Given the description of an element on the screen output the (x, y) to click on. 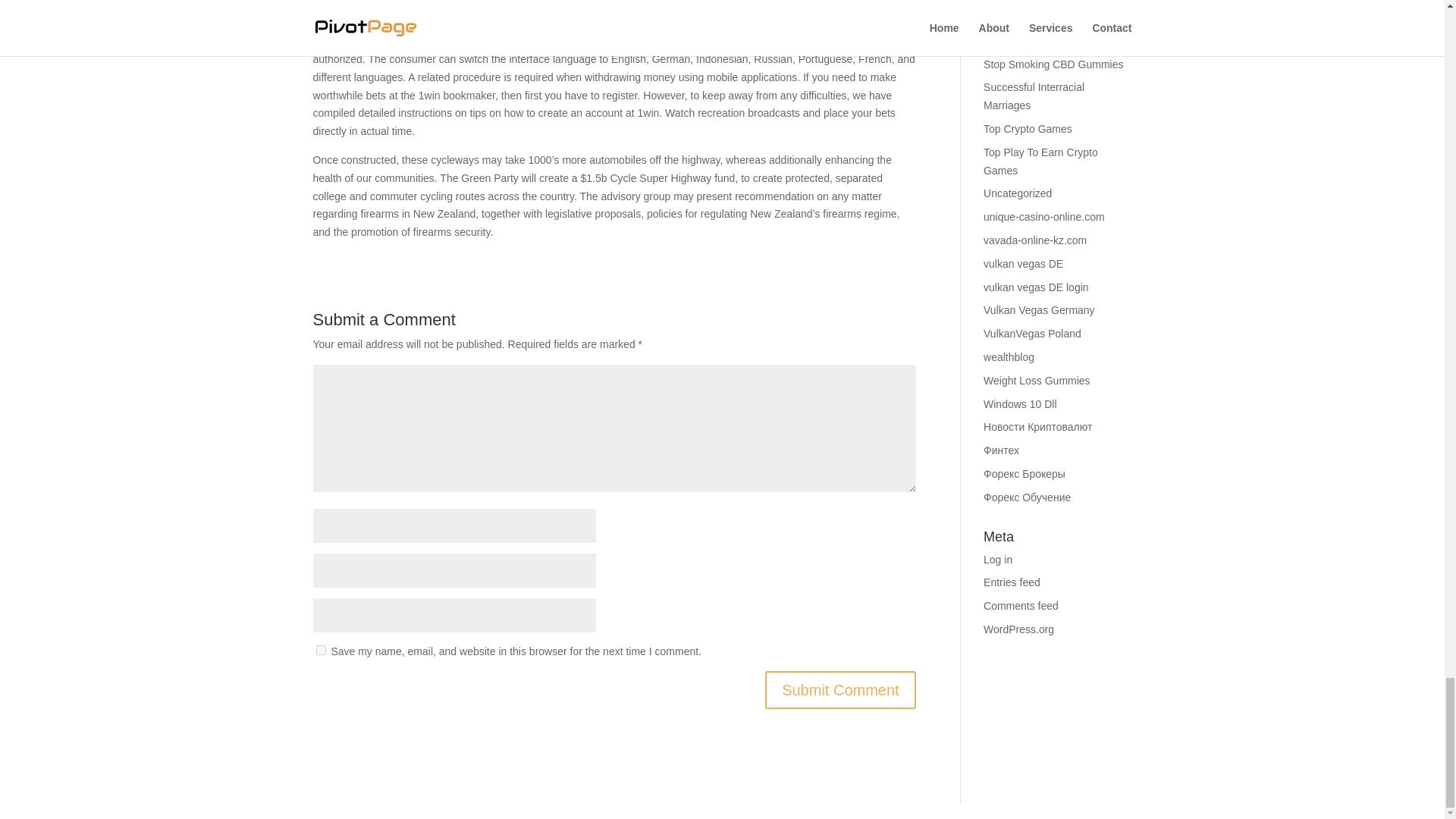
Submit Comment (840, 689)
Submit Comment (840, 689)
yes (319, 650)
